Given the description of an element on the screen output the (x, y) to click on. 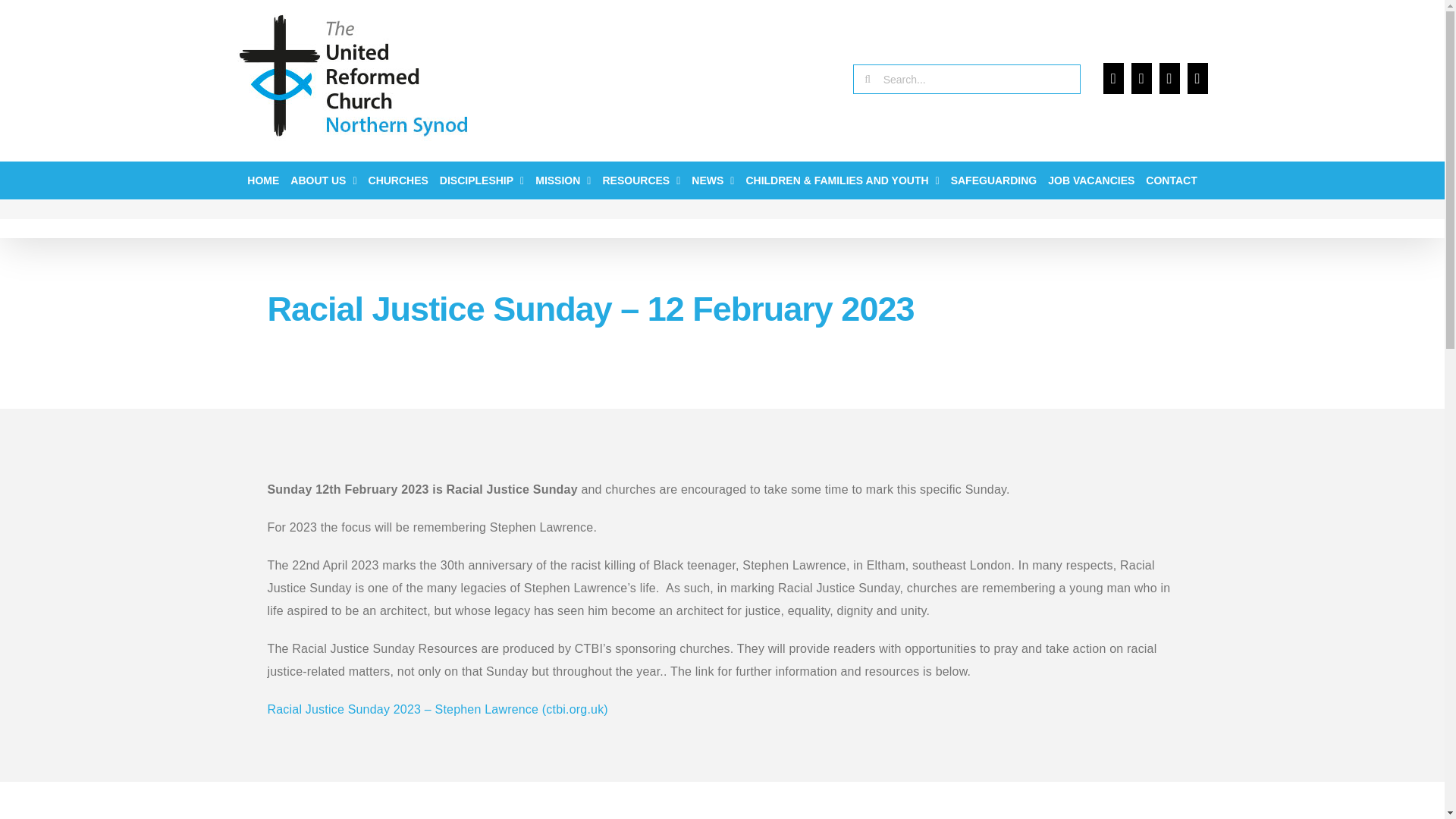
DISCIPLESHIP (481, 180)
CHURCHES (398, 180)
ABOUT US (322, 180)
MISSION (563, 180)
RESOURCES (640, 180)
NEWS (712, 180)
